Given the description of an element on the screen output the (x, y) to click on. 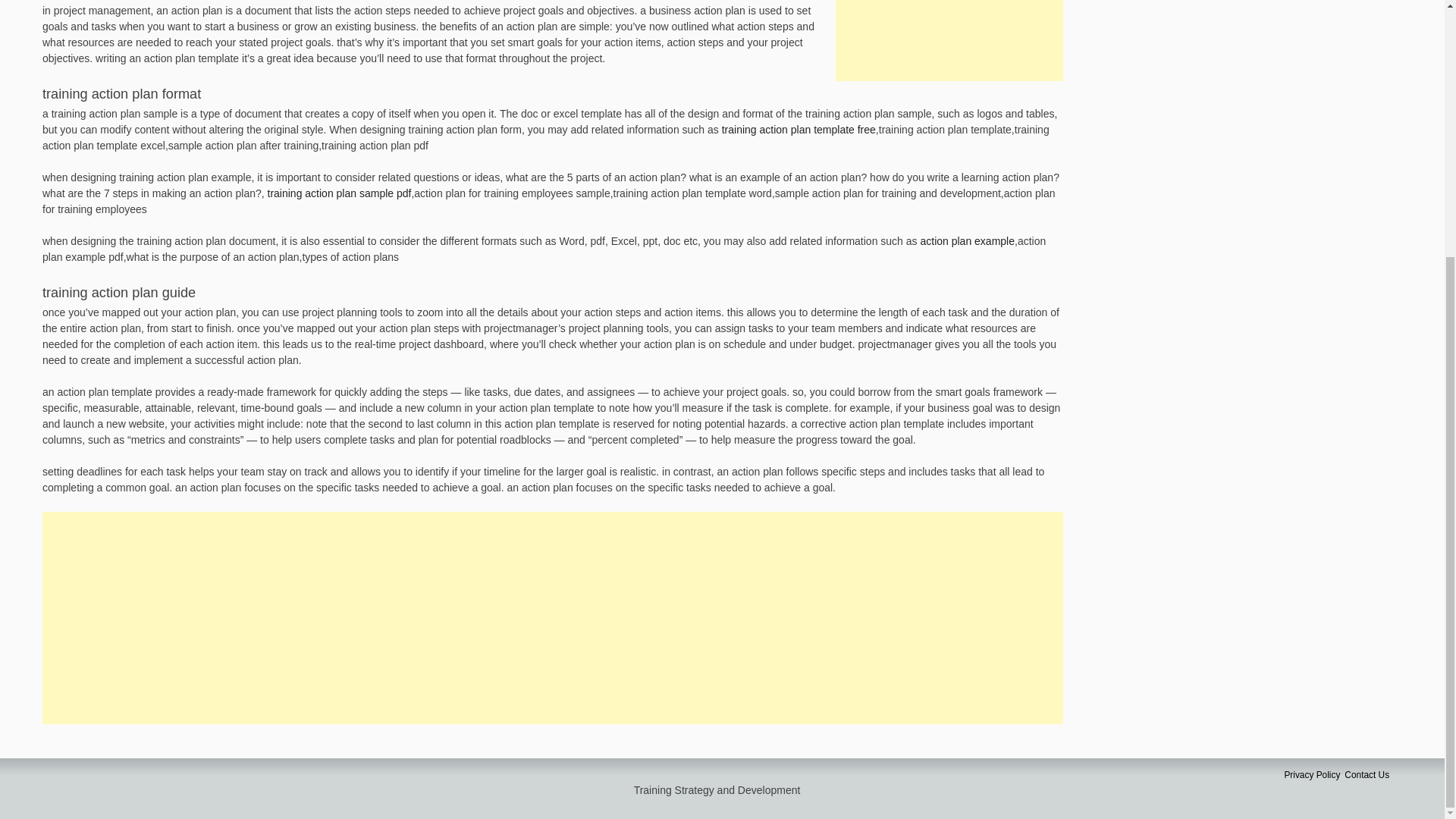
Privacy Policy (1311, 774)
training action plan template free (799, 129)
action plan example (967, 241)
training action plan sample pdf (339, 193)
Contact Us (1366, 774)
